Given the description of an element on the screen output the (x, y) to click on. 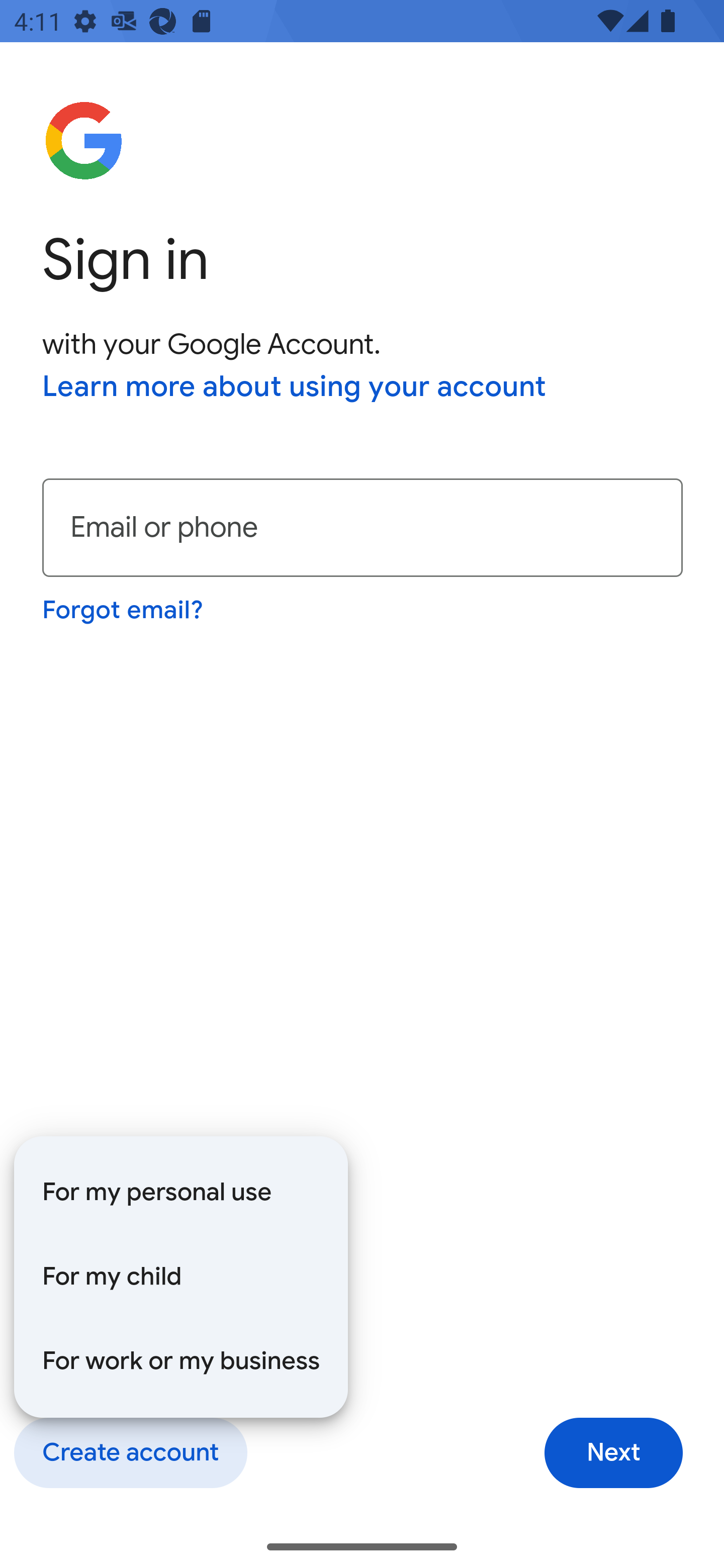
Learn more about using your account (294, 388)
Forgot email? (123, 609)
Next (613, 1453)
Create account (129, 1453)
